Given the description of an element on the screen output the (x, y) to click on. 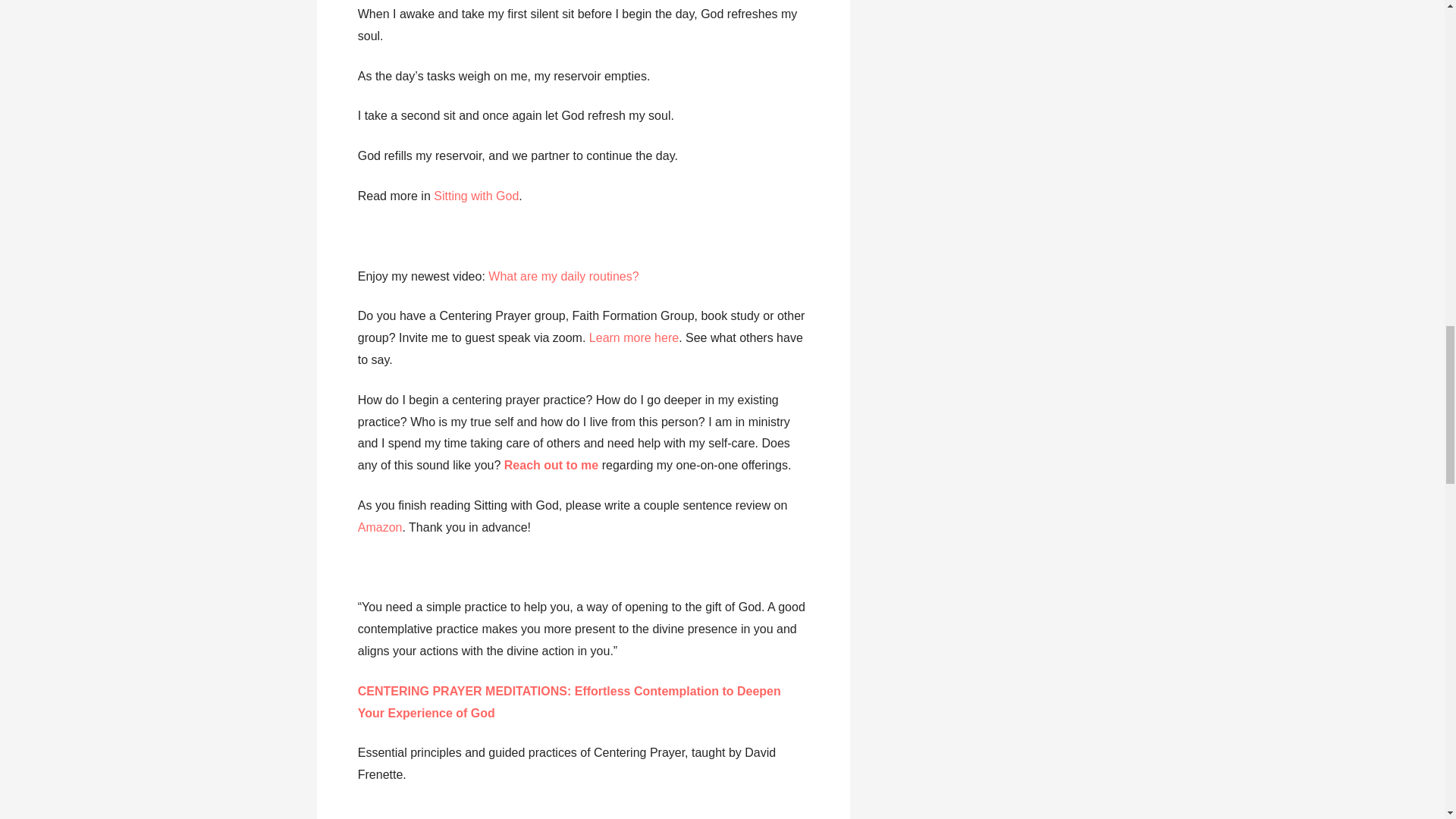
Reach out to me (552, 464)
Amazon (380, 526)
Sitting with God (475, 195)
Learn more here (633, 337)
What are my daily routines? (563, 276)
